Given the description of an element on the screen output the (x, y) to click on. 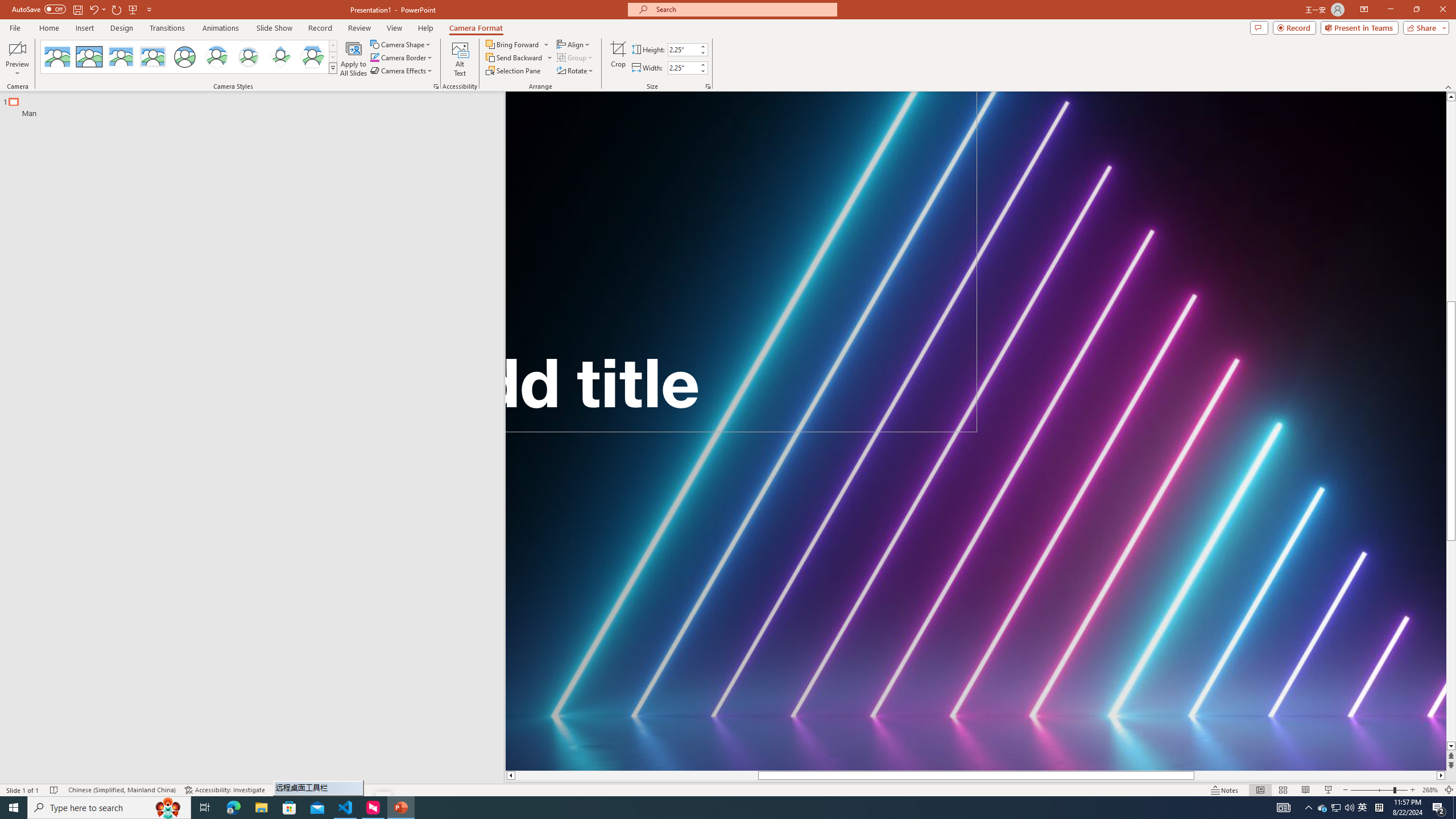
Cameo Width (682, 67)
AutomationID: CameoStylesGallery (189, 56)
Camera Border (401, 56)
Camera Border Blue, Accent 1 (374, 56)
Camera Format (475, 28)
No Style (57, 56)
Center Shadow Diamond (280, 56)
Bring Forward (513, 44)
Center Shadow Hexagon (312, 56)
